Given the description of an element on the screen output the (x, y) to click on. 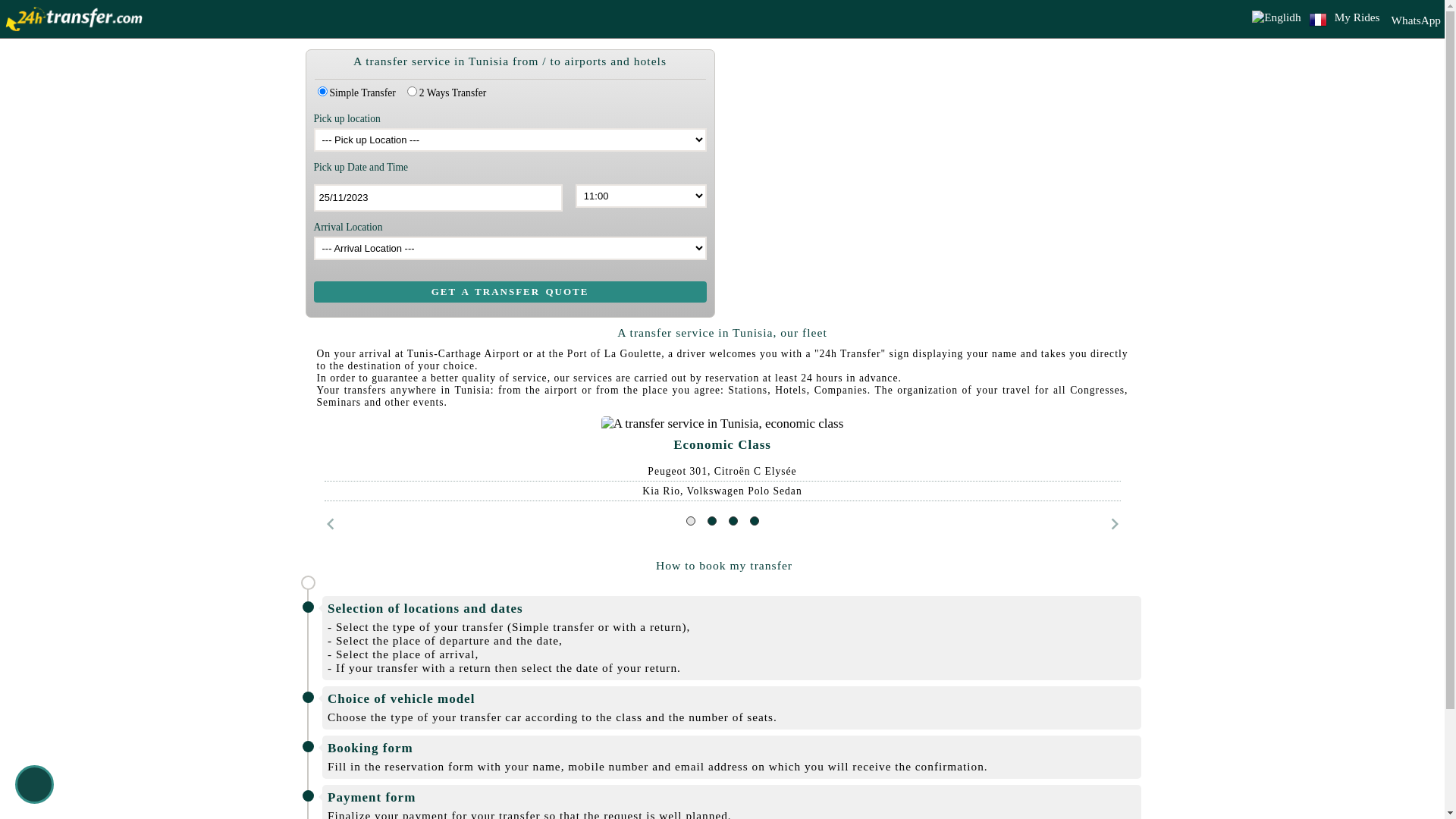
GET A TRANSFER QUOTE Element type: text (509, 291)
WhatsApp Element type: text (1413, 19)
TAR Element type: text (412, 91)
TS Element type: text (321, 91)
My Rides Element type: text (1357, 16)
